Given the description of an element on the screen output the (x, y) to click on. 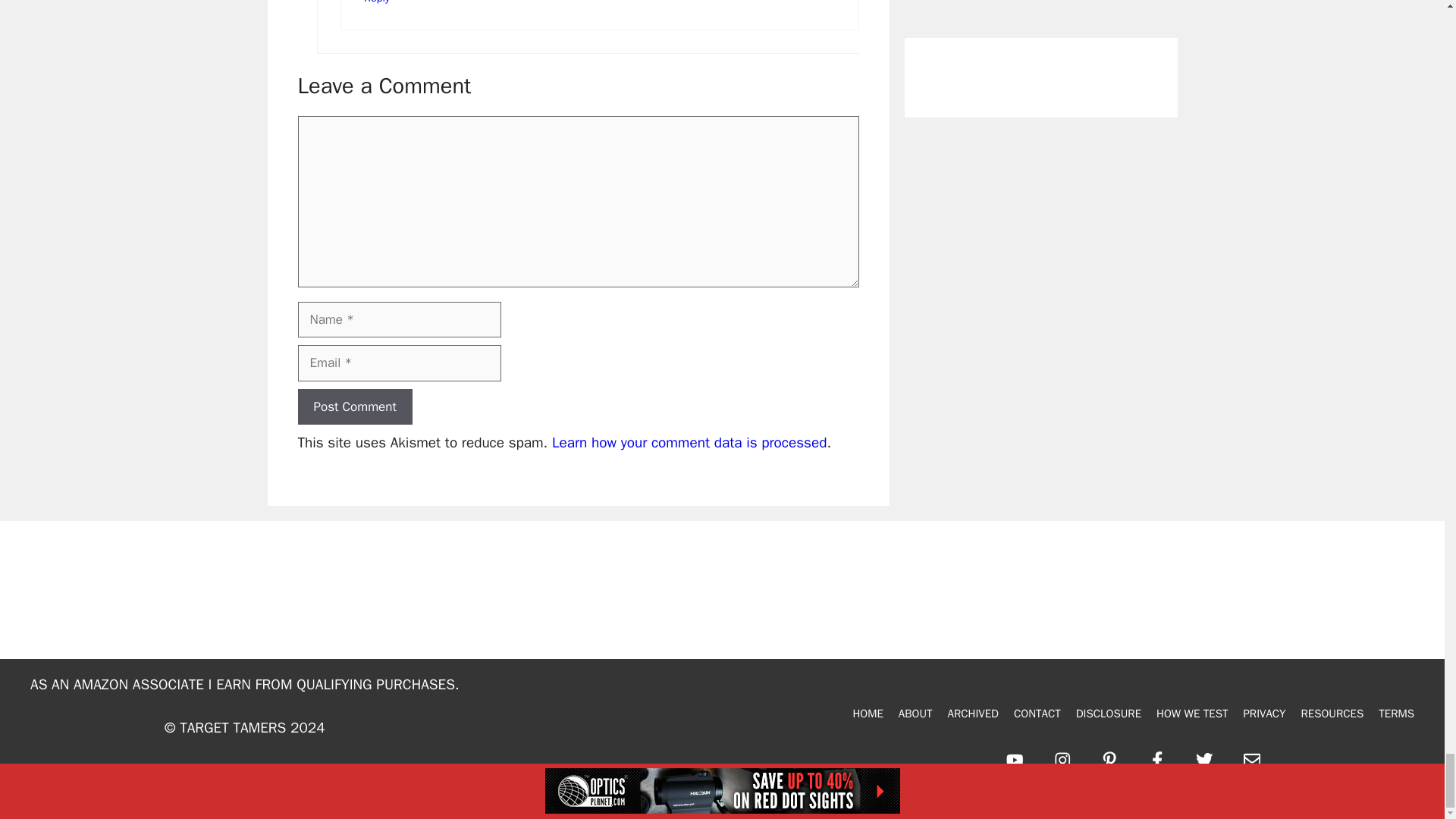
Post Comment (354, 407)
